Given the description of an element on the screen output the (x, y) to click on. 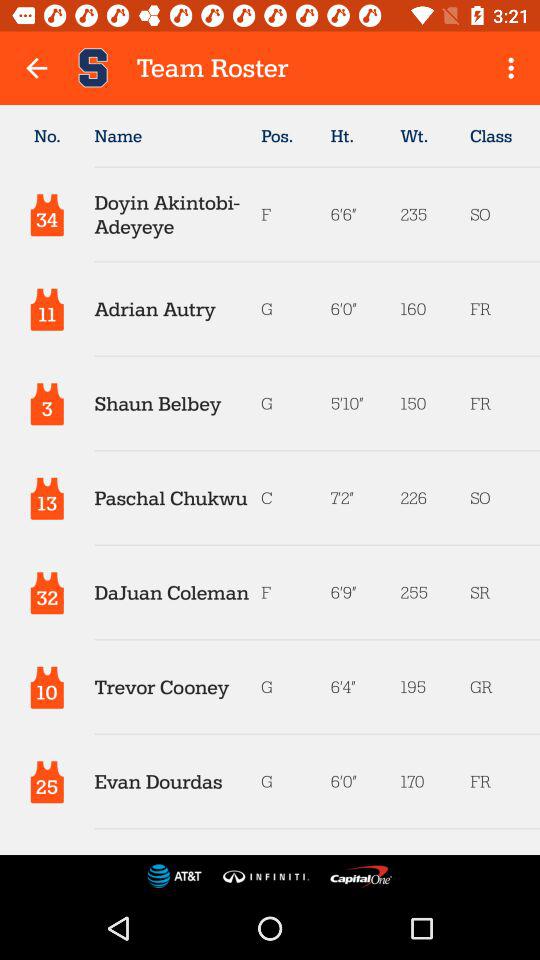
click item above the no. icon (36, 68)
